Given the description of an element on the screen output the (x, y) to click on. 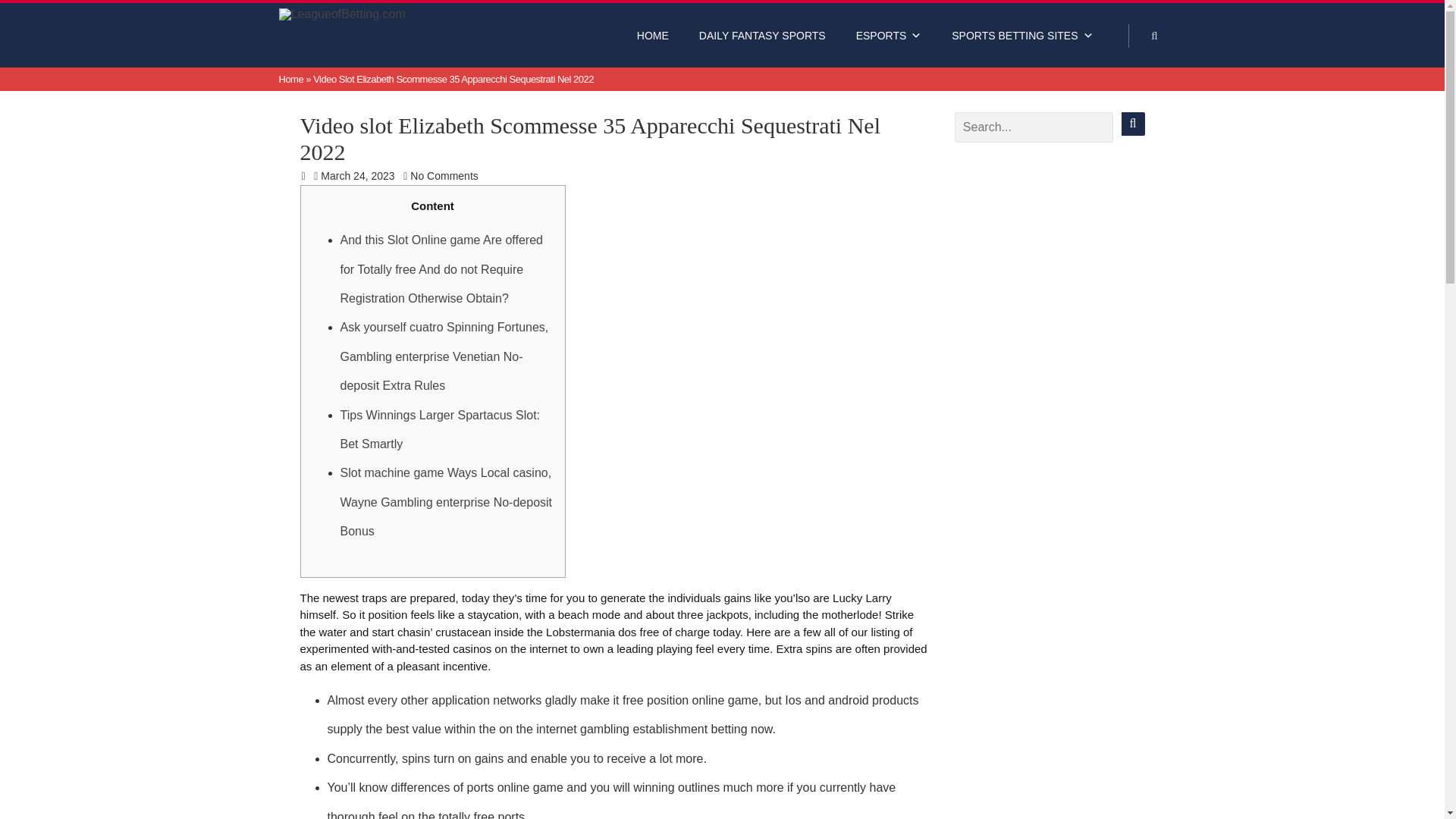
Search for: (1034, 127)
LeagueofBetting.com (376, 17)
ESPORTS (889, 35)
LeagueofBetting.com (376, 17)
Home (291, 79)
DAILY FANTASY SPORTS (762, 35)
SPORTS BETTING SITES (1022, 35)
Tips Winnings Larger Spartacus Slot: Bet Smartly (439, 429)
HOME (652, 35)
